Given the description of an element on the screen output the (x, y) to click on. 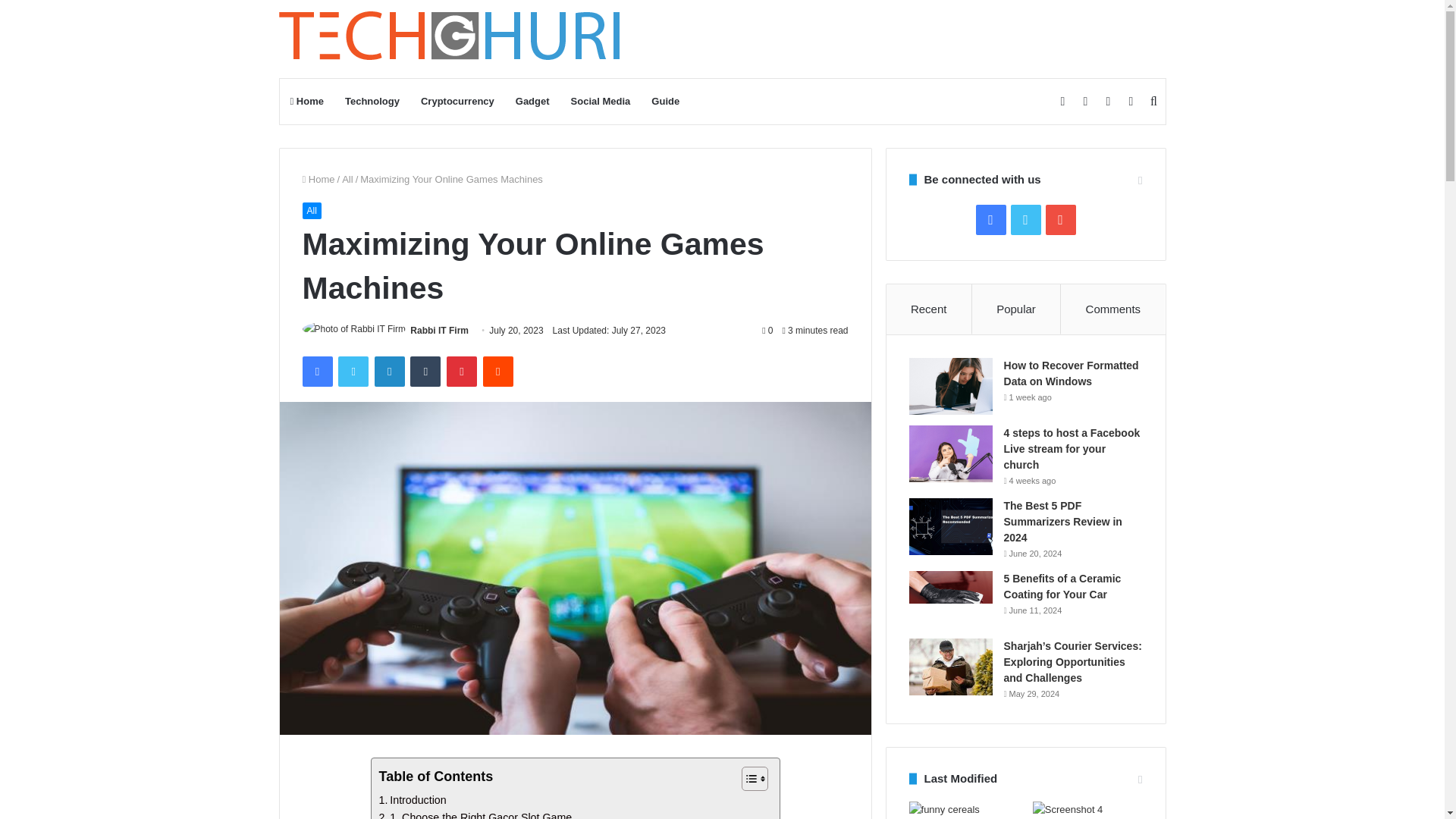
LinkedIn (389, 371)
Twitter (352, 371)
Pinterest (461, 371)
Rabbi IT Firm (439, 330)
Facebook (316, 371)
LinkedIn (389, 371)
Twitter (352, 371)
TechGhuri (451, 38)
All (347, 179)
Introduction (412, 800)
Rabbi IT Firm (439, 330)
1. Choose the Right Gacor Slot Game (475, 814)
Facebook (316, 371)
All (310, 210)
Cryptocurrency (457, 101)
